Given the description of an element on the screen output the (x, y) to click on. 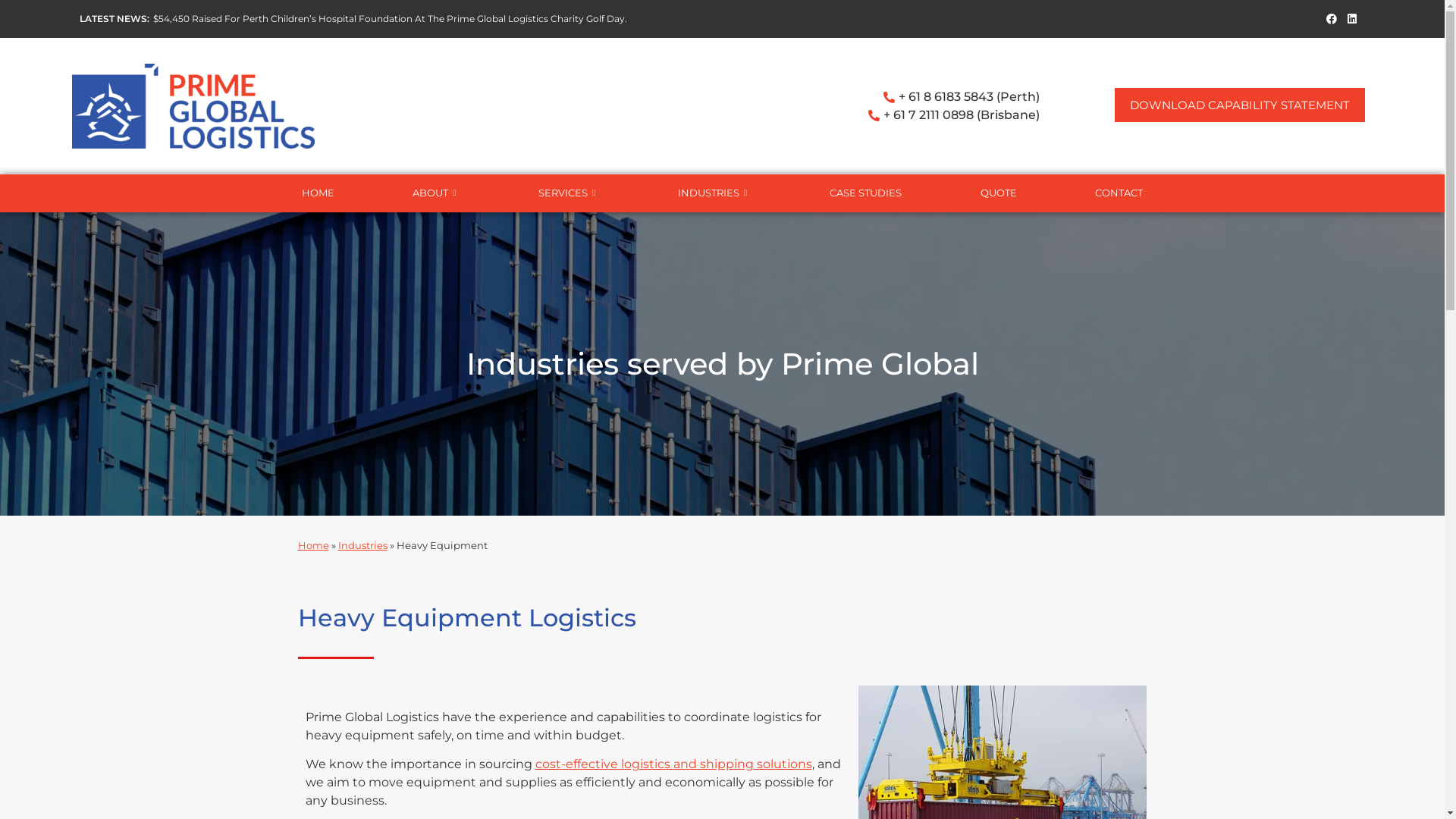
DOWNLOAD CAPABILITY STATEMENT Element type: text (1239, 104)
LATEST NEWS: Element type: text (114, 18)
ABOUT Element type: text (435, 193)
Industries Element type: text (362, 544)
cost-effective logistics and shipping solutions Element type: text (673, 763)
+ 61 8 6183 5843 (Perth) Element type: text (884, 96)
+ 61 7 2111 0898 (Brisbane) Element type: text (884, 115)
HOME Element type: text (317, 193)
QUOTE Element type: text (998, 193)
Home Element type: text (312, 544)
SERVICES Element type: text (568, 193)
CONTACT Element type: text (1118, 193)
CASE STUDIES Element type: text (865, 193)
Prime Global Logistic Logo-Coloured Element type: hover (193, 105)
INDUSTRIES Element type: text (714, 193)
